Given the description of an element on the screen output the (x, y) to click on. 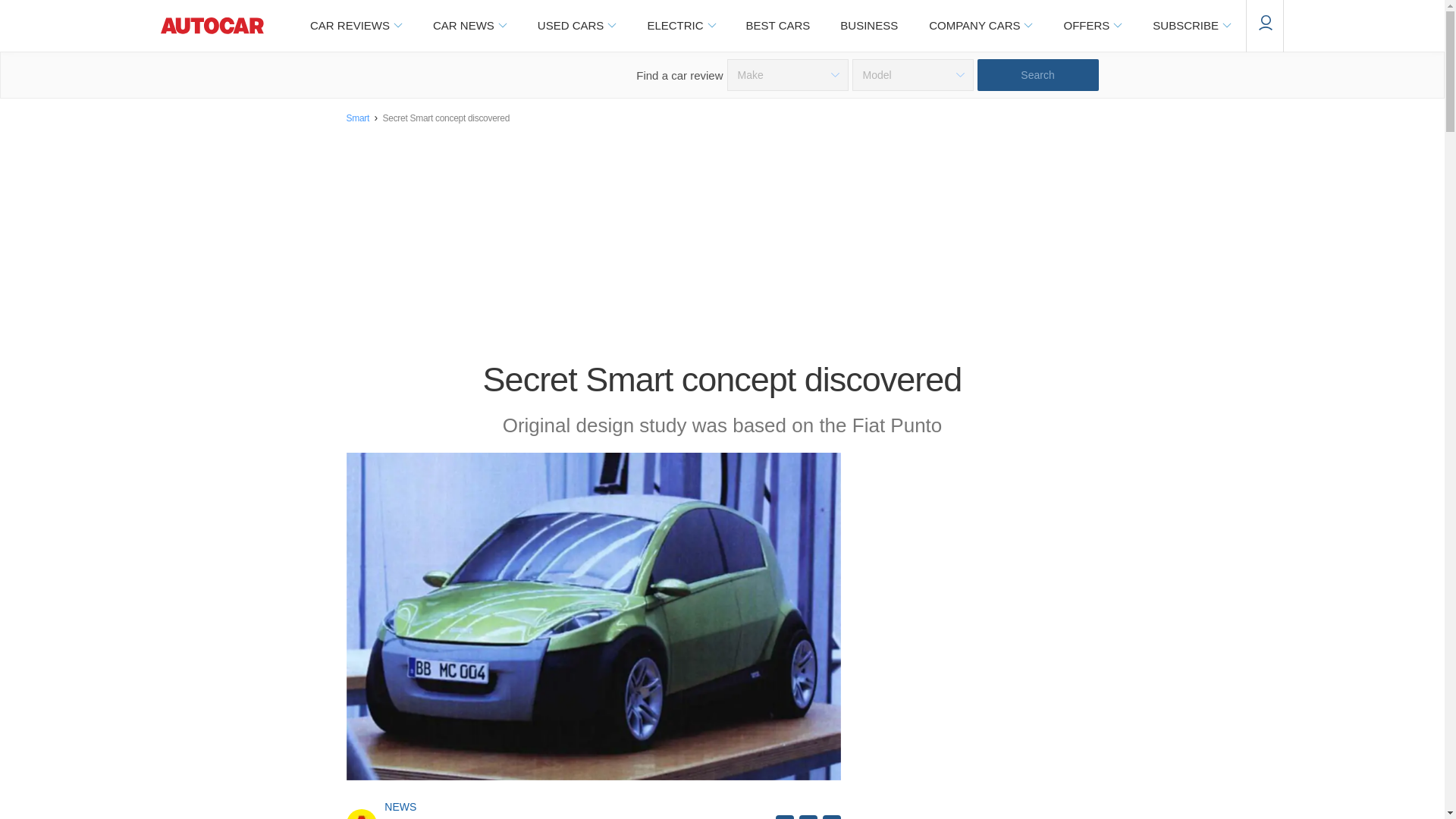
CAR NEWS (468, 26)
CAR REVIEWS (355, 26)
USED CARS (576, 26)
ELECTRIC (680, 26)
OFFERS (1091, 26)
Autocar Business news, insight and opinion (868, 26)
Autocar Electric (680, 26)
COMPANY CARS (979, 26)
SUBSCRIBE (1191, 26)
Top 10 cars by segment (777, 26)
